Given the description of an element on the screen output the (x, y) to click on. 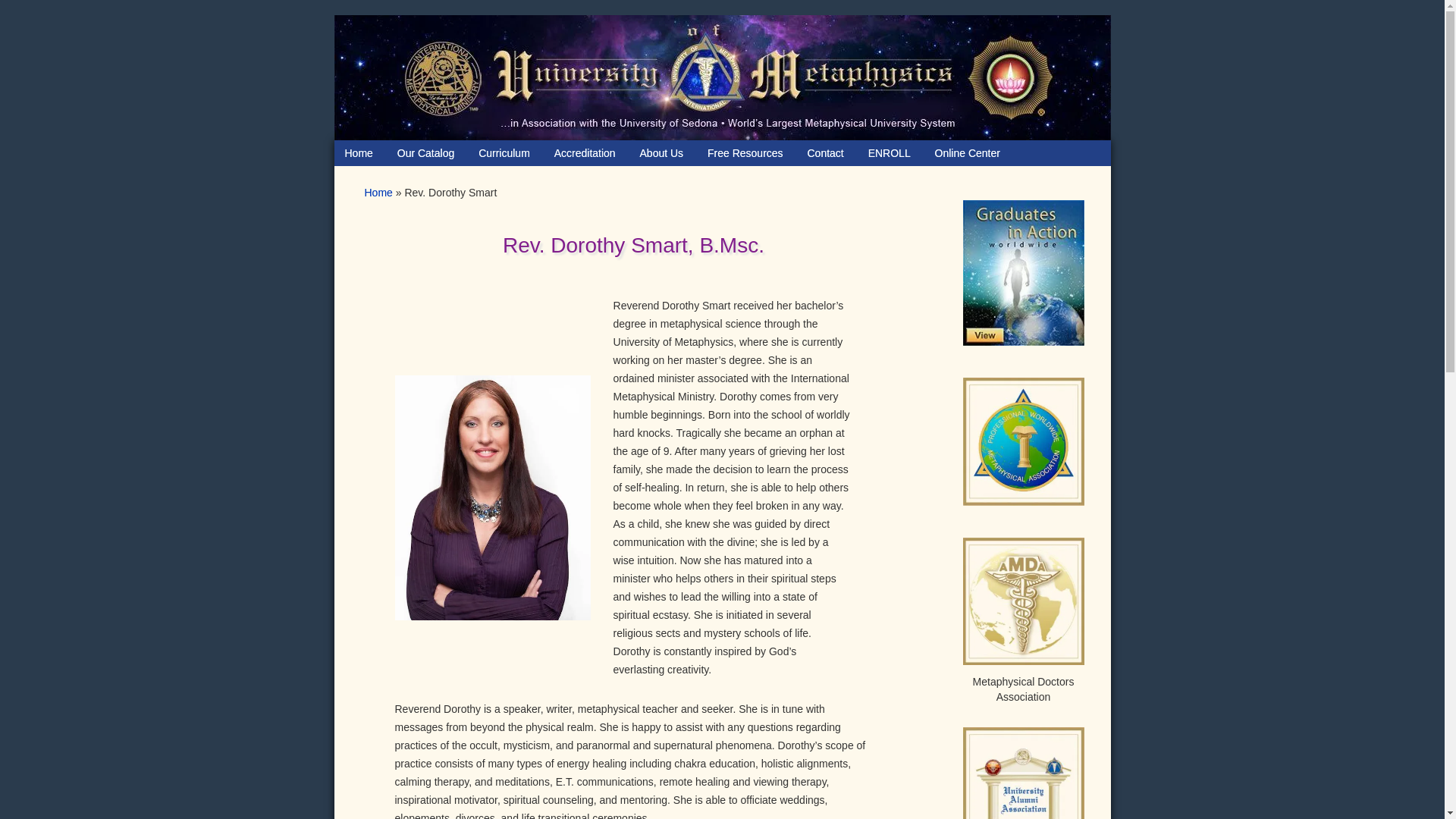
Accreditation (584, 153)
Online Center (967, 153)
Contact (824, 153)
Our Catalog (425, 153)
Free Resources (745, 153)
ENROLL (889, 153)
Home (357, 153)
About Us (661, 153)
Curriculum (503, 153)
